Given the description of an element on the screen output the (x, y) to click on. 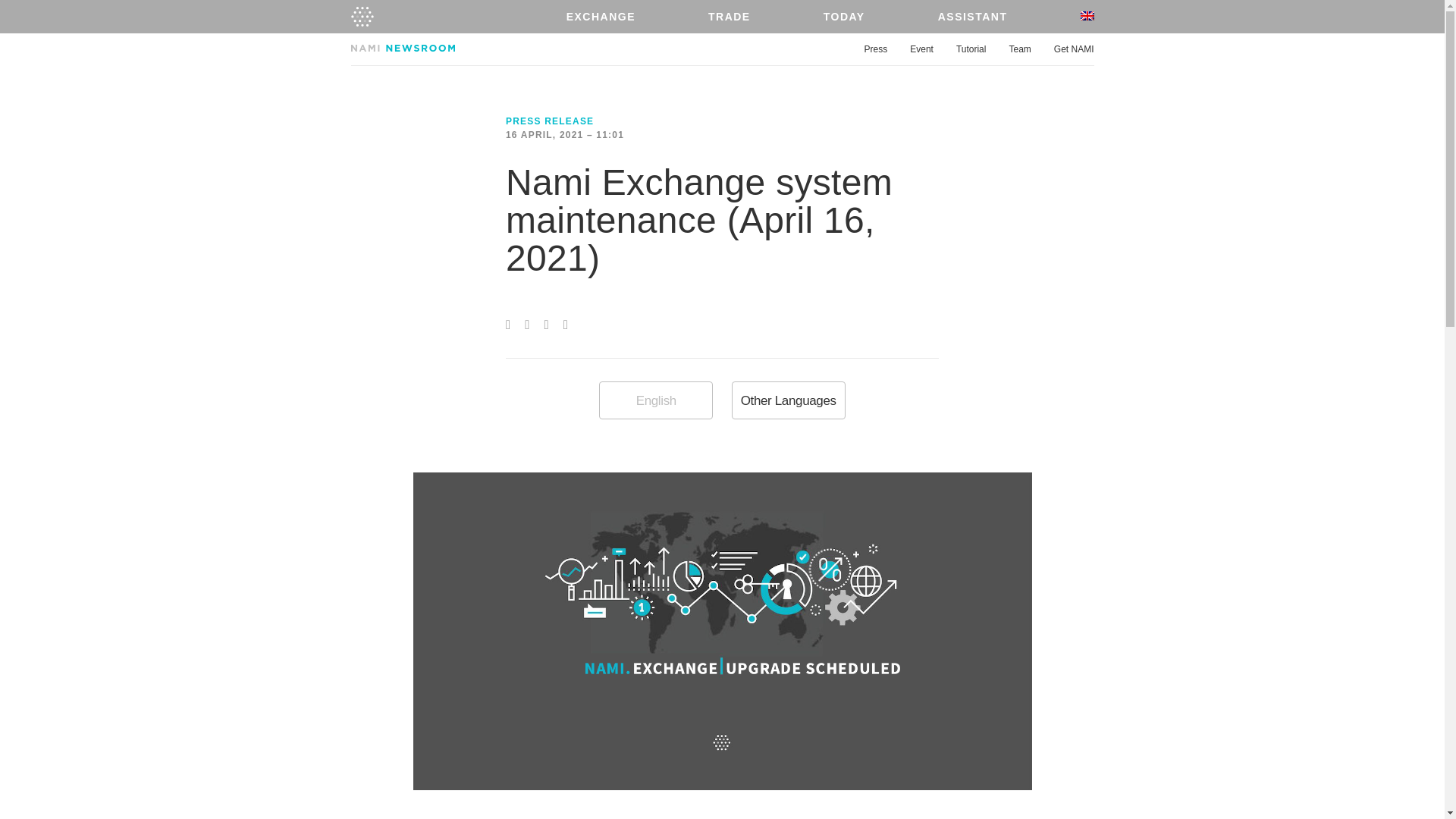
TRADE (729, 16)
Get NAMI (1074, 49)
EXCHANGE (601, 16)
Tutorial (971, 49)
Other Languages (788, 400)
Event (921, 49)
Team (1019, 49)
English (655, 400)
TODAY (843, 16)
ASSISTANT (972, 16)
Press (876, 49)
Change mindset, make giant steps (361, 16)
